Given the description of an element on the screen output the (x, y) to click on. 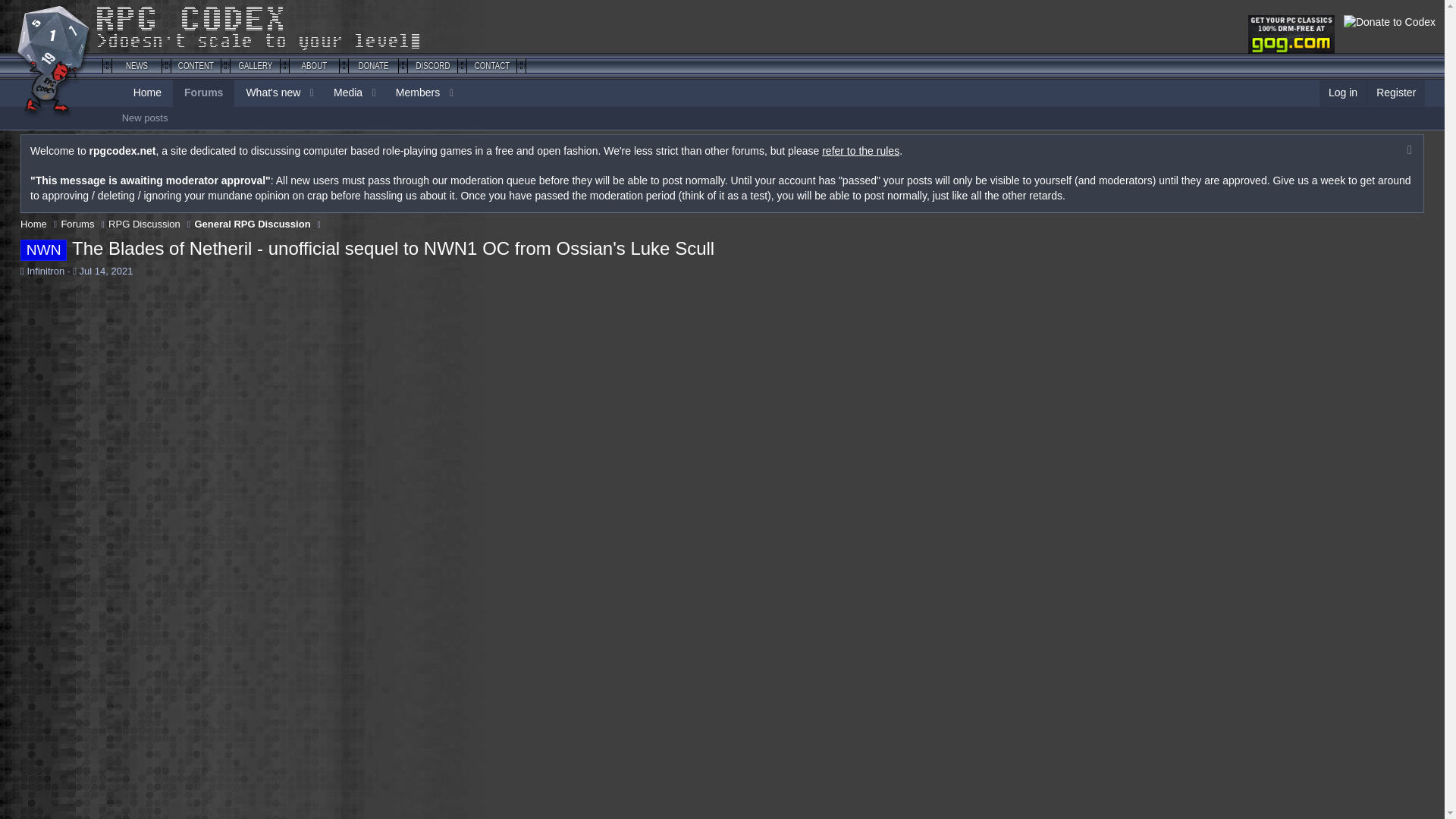
Register (1396, 93)
Log in (1343, 93)
New posts (291, 93)
Forums (773, 118)
What's new (203, 93)
Media (267, 93)
Jul 14, 2021 at 4:02 PM (342, 93)
New posts (291, 93)
